Given the description of an element on the screen output the (x, y) to click on. 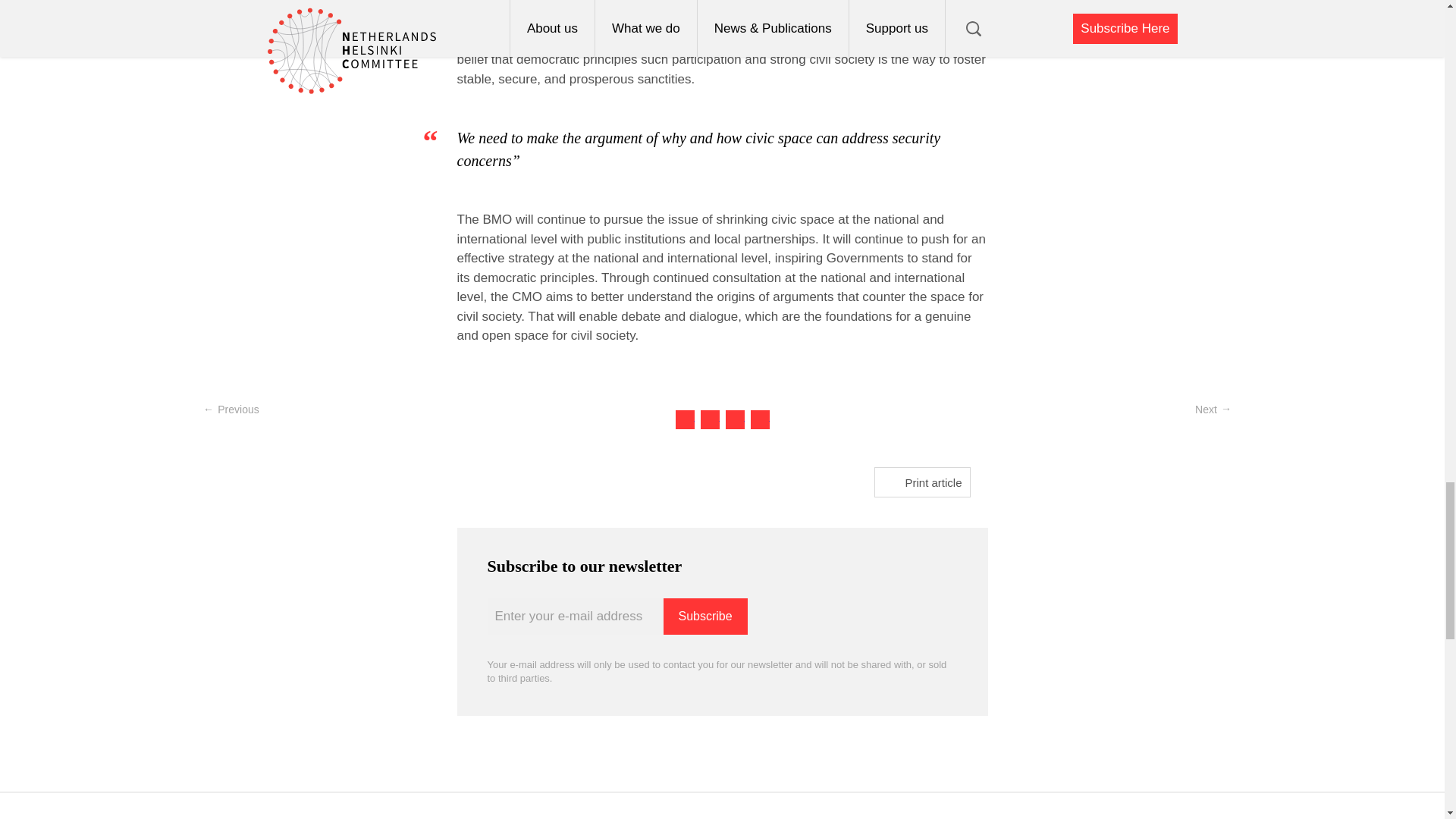
Share this article on Facebook (709, 419)
Print article (921, 481)
Share this article on Twitter (684, 419)
Share this article on WhatsApp (760, 419)
Share this article on LinkedIn (734, 419)
Subscribe (704, 616)
Subscribe (704, 616)
